Given the description of an element on the screen output the (x, y) to click on. 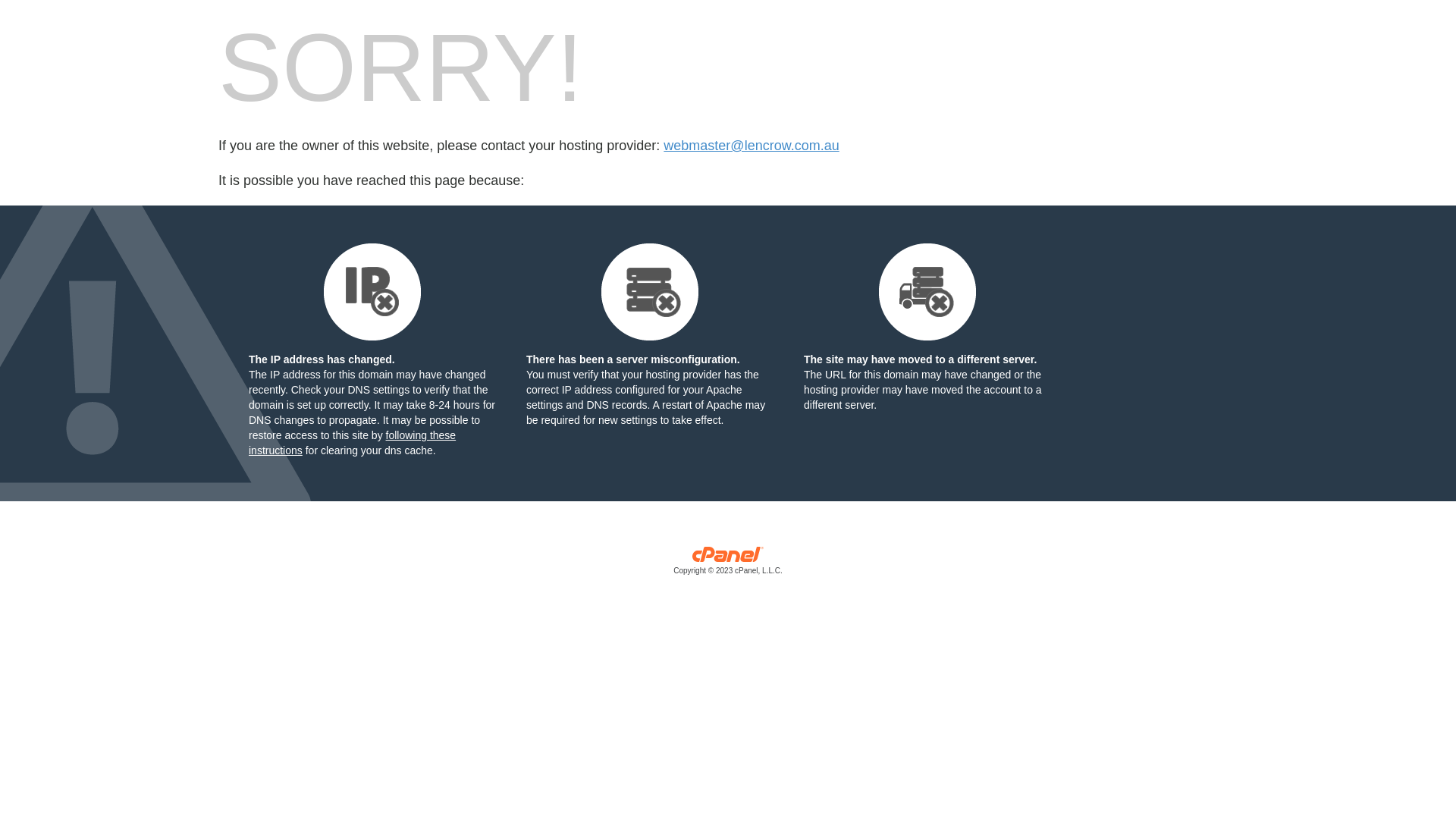
following these instructions Element type: text (351, 442)
webmaster@lencrow.com.au Element type: text (750, 145)
